Given the description of an element on the screen output the (x, y) to click on. 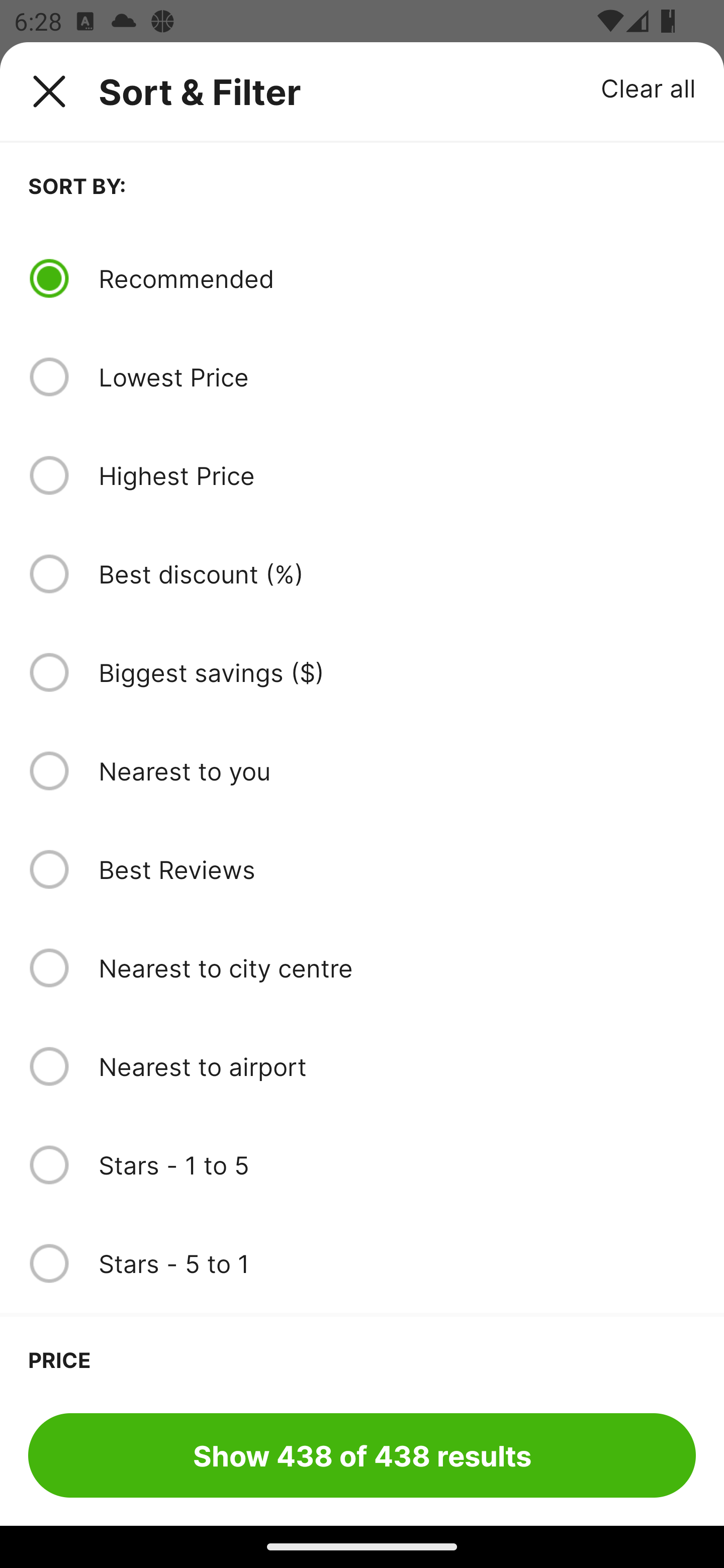
Clear all (648, 87)
Recommended  (396, 278)
Lowest Price (396, 377)
Highest Price (396, 474)
Best discount (%) (396, 573)
Biggest savings ($) (396, 672)
Nearest to you (396, 770)
Best Reviews (396, 869)
Nearest to city centre (396, 968)
Nearest to airport (396, 1065)
Stars - 1 to 5 (396, 1164)
Stars - 5 to 1 (396, 1263)
Show 438 of 438 results (361, 1454)
